Given the description of an element on the screen output the (x, y) to click on. 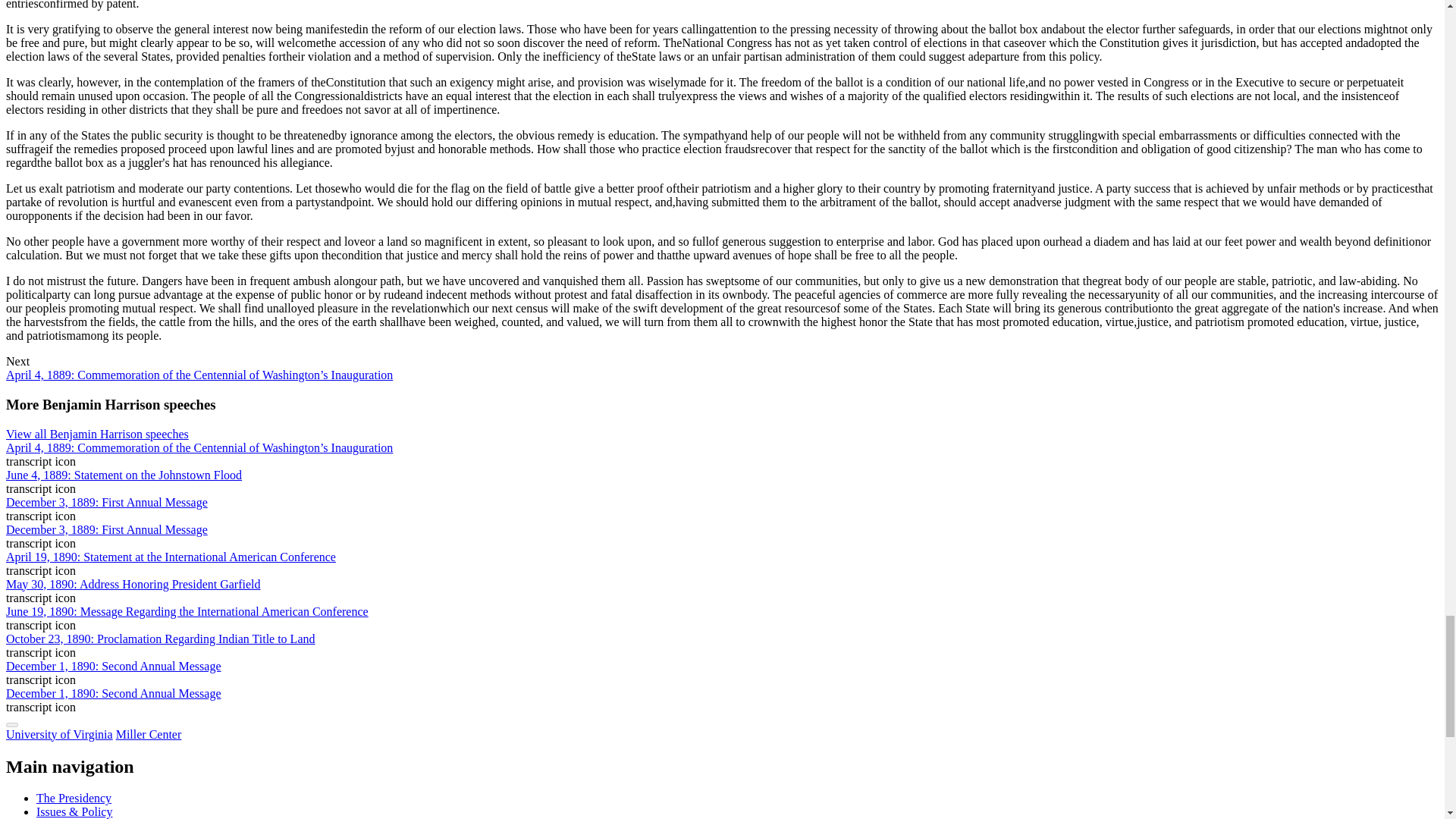
University of Virginia (59, 734)
Home (149, 734)
